Given the description of an element on the screen output the (x, y) to click on. 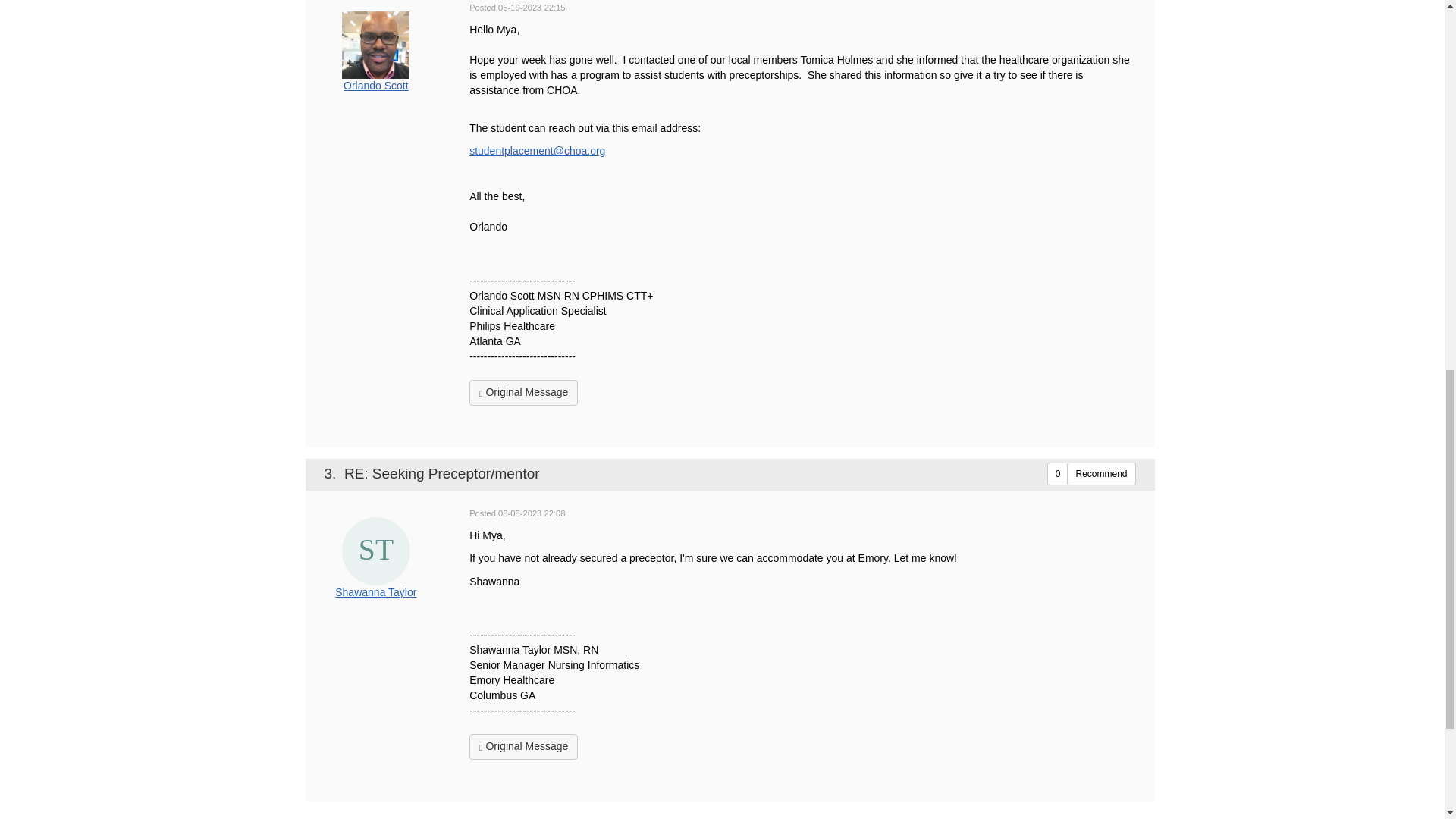
Recommend this item. (1101, 473)
Shawanna Taylor (376, 550)
Orlando Scott (375, 44)
Nbr of recommenders (1057, 473)
